Given the description of an element on the screen output the (x, y) to click on. 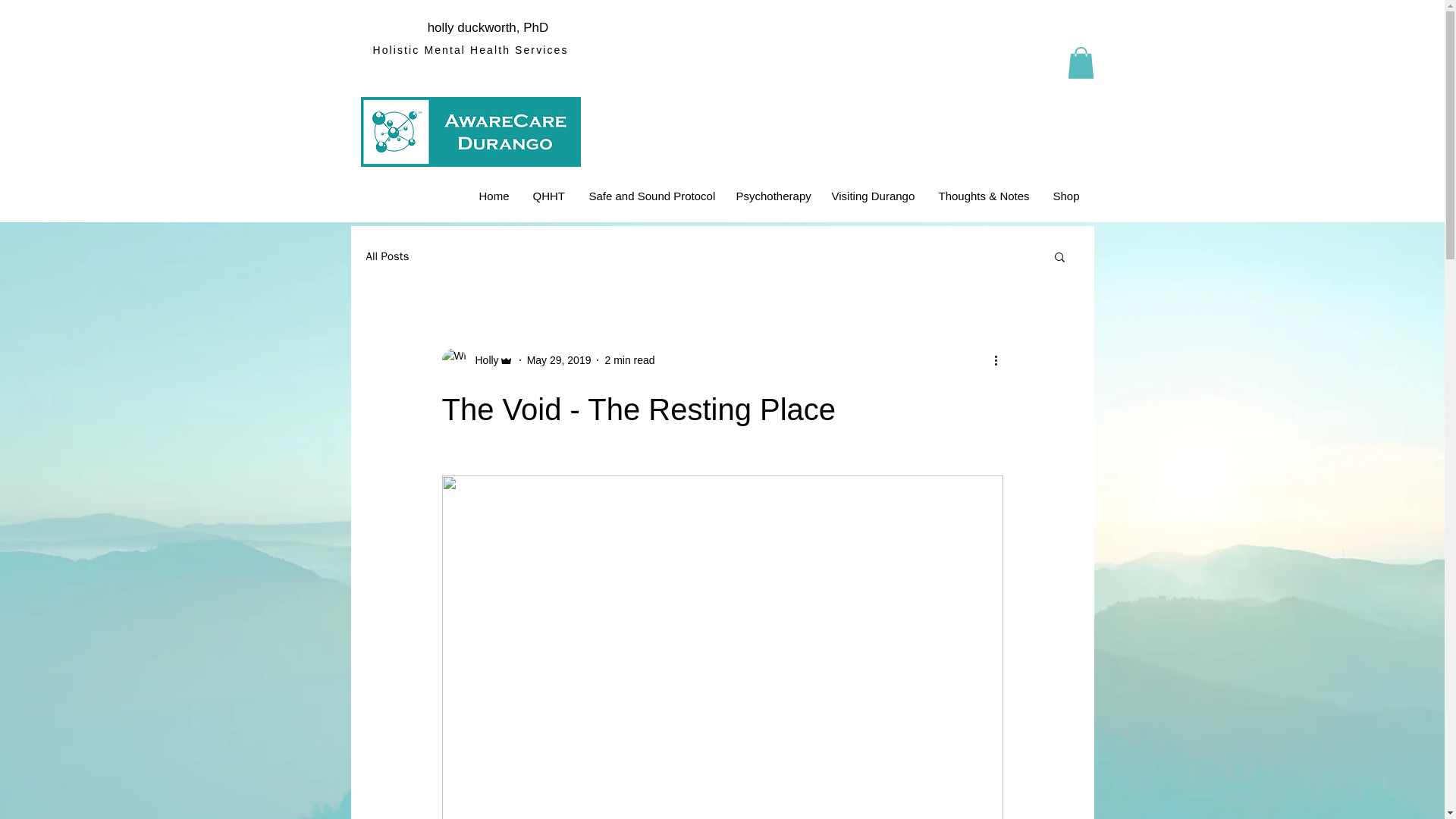
2 min read (628, 358)
Safe and Sound Protocol (651, 195)
May 29, 2019 (559, 358)
Visiting Durango (874, 195)
Holly (476, 360)
holly duckworth, PhD (488, 27)
All Posts (387, 255)
Shop (1066, 195)
Holly (481, 359)
QHHT (549, 195)
